Given the description of an element on the screen output the (x, y) to click on. 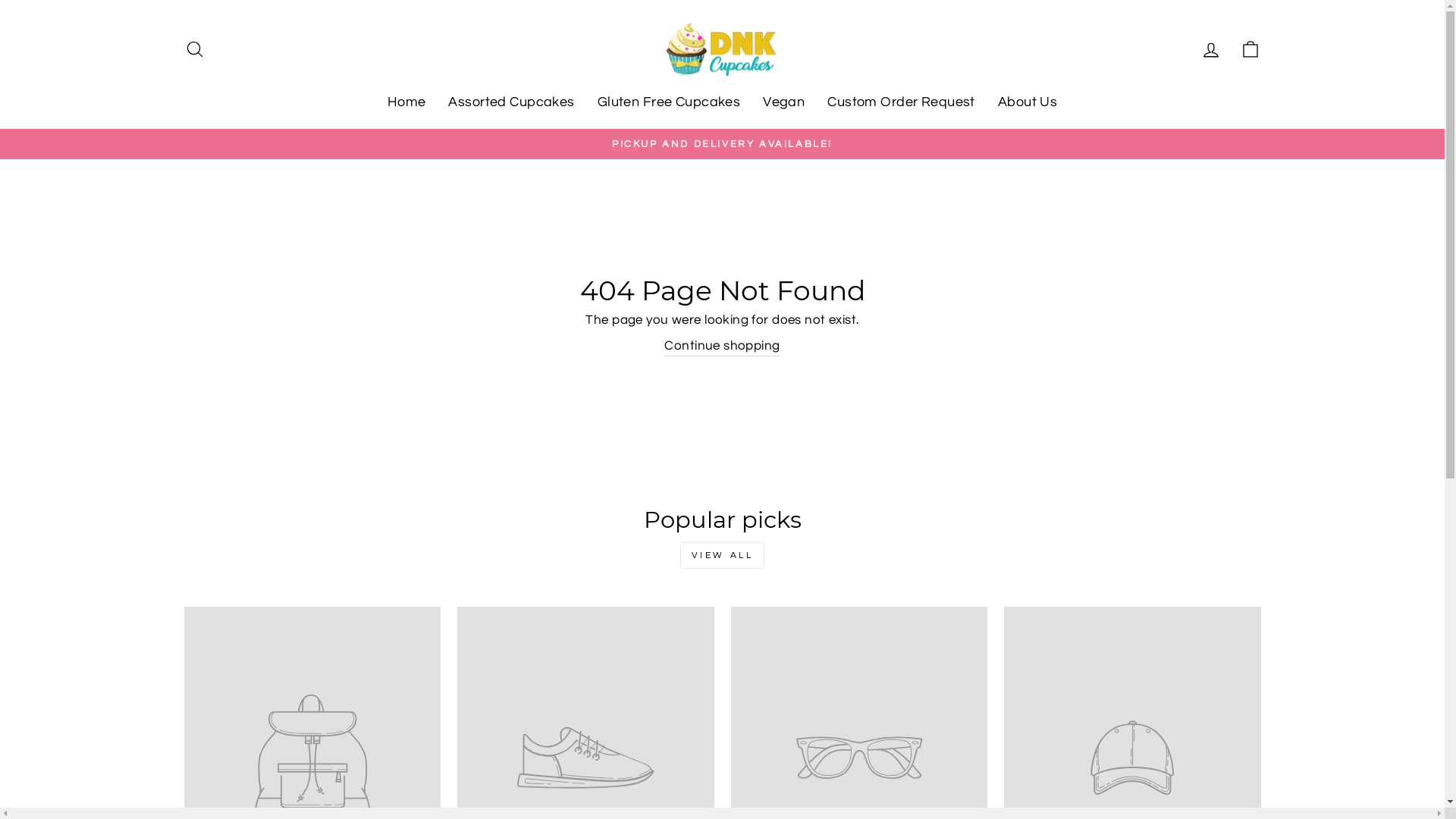
Log in Element type: text (1210, 48)
Gluten Free Cupcakes Element type: text (669, 102)
Continue shopping Element type: text (721, 346)
Assorted Cupcakes Element type: text (510, 102)
Search Element type: text (193, 48)
Custom Order Request Element type: text (900, 102)
About Us Element type: text (1027, 102)
VIEW ALL Element type: text (722, 555)
Cart Element type: text (1249, 48)
Vegan Element type: text (783, 102)
Home Element type: text (406, 102)
